Given the description of an element on the screen output the (x, y) to click on. 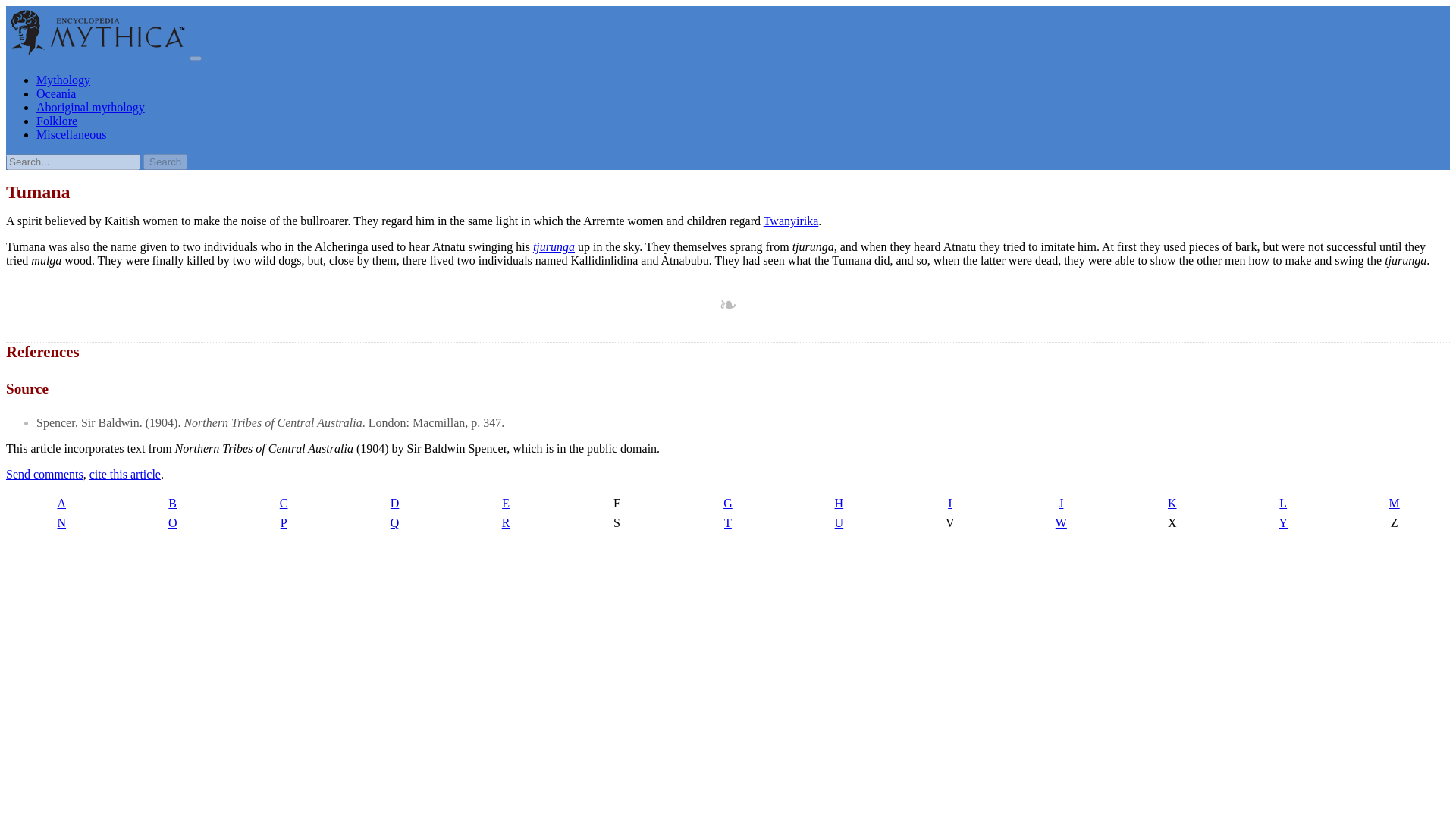
H (838, 503)
E (504, 503)
Aboriginal mythology (90, 106)
tjurunga (553, 246)
J (1061, 503)
K (1171, 503)
Folklore (56, 120)
G (727, 503)
cite this article (124, 473)
Mythology (63, 79)
D (394, 503)
B (171, 503)
Miscellaneous (71, 133)
Twanyirika (790, 220)
Search (164, 161)
